Given the description of an element on the screen output the (x, y) to click on. 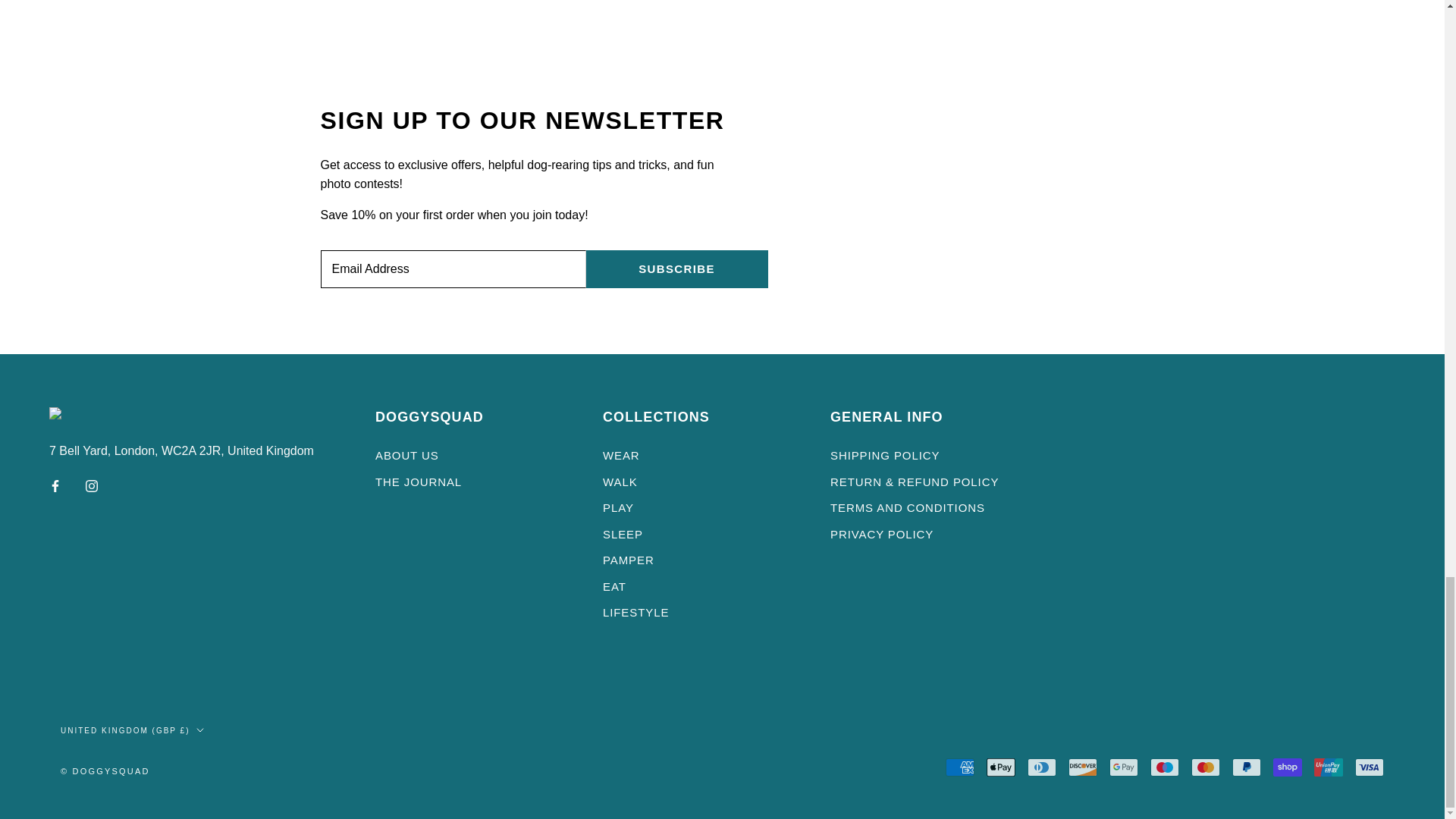
Discover (1082, 767)
Maestro (1164, 767)
Mastercard (1205, 767)
American Express (959, 767)
Shop Pay (1286, 767)
Diners Club (1042, 767)
PayPal (1245, 767)
Google Pay (1123, 767)
Apple Pay (1000, 767)
